Given the description of an element on the screen output the (x, y) to click on. 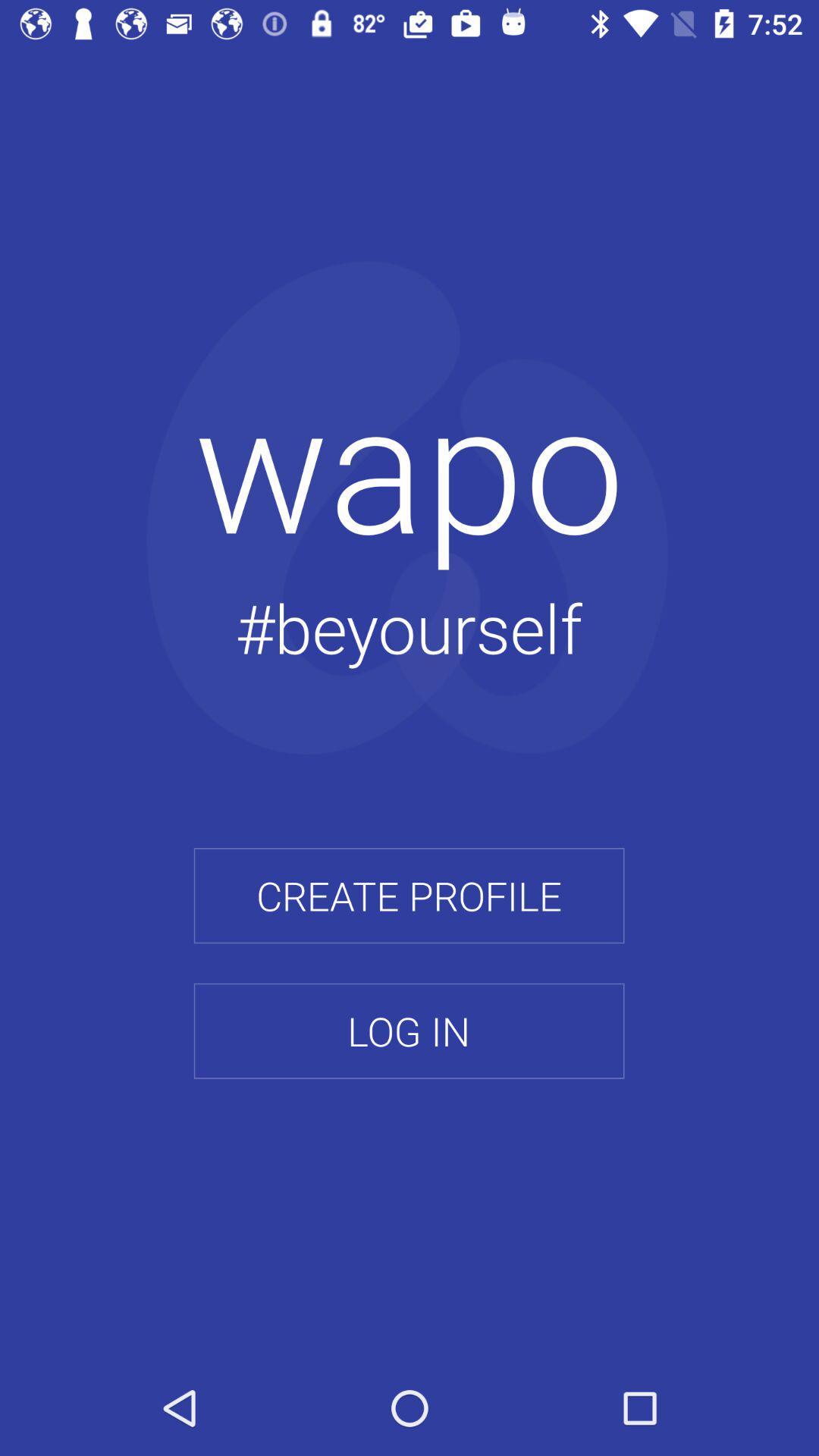
swipe until the create profile icon (408, 895)
